Given the description of an element on the screen output the (x, y) to click on. 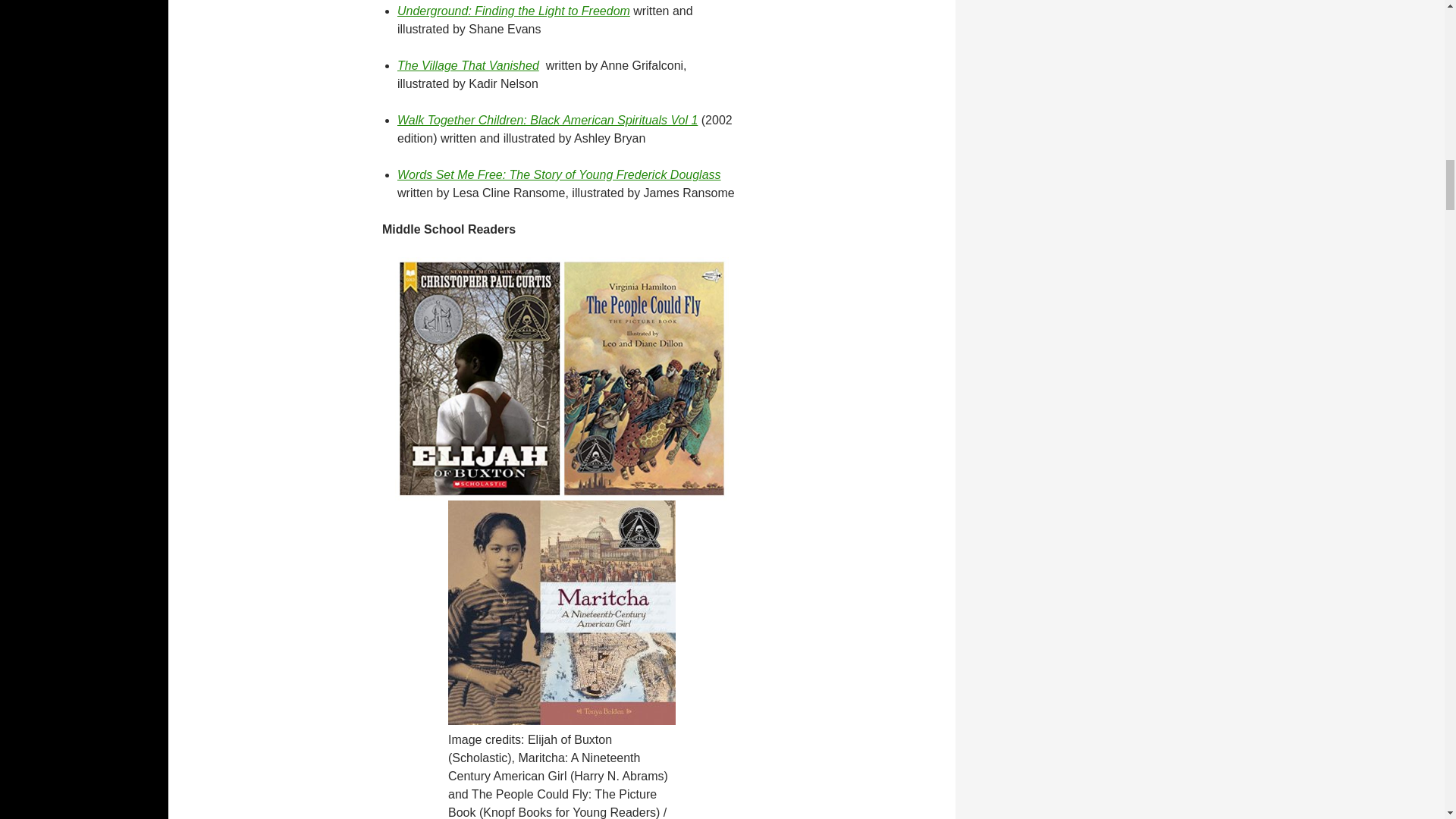
Underground: Finding the Light to Freedom (513, 10)
Walk Together Children: Black American Spirituals Vol 1 (547, 119)
The Village That Vanished (467, 65)
Words Set Me Free: The Story of Young Frederick Douglass (558, 174)
